Given the description of an element on the screen output the (x, y) to click on. 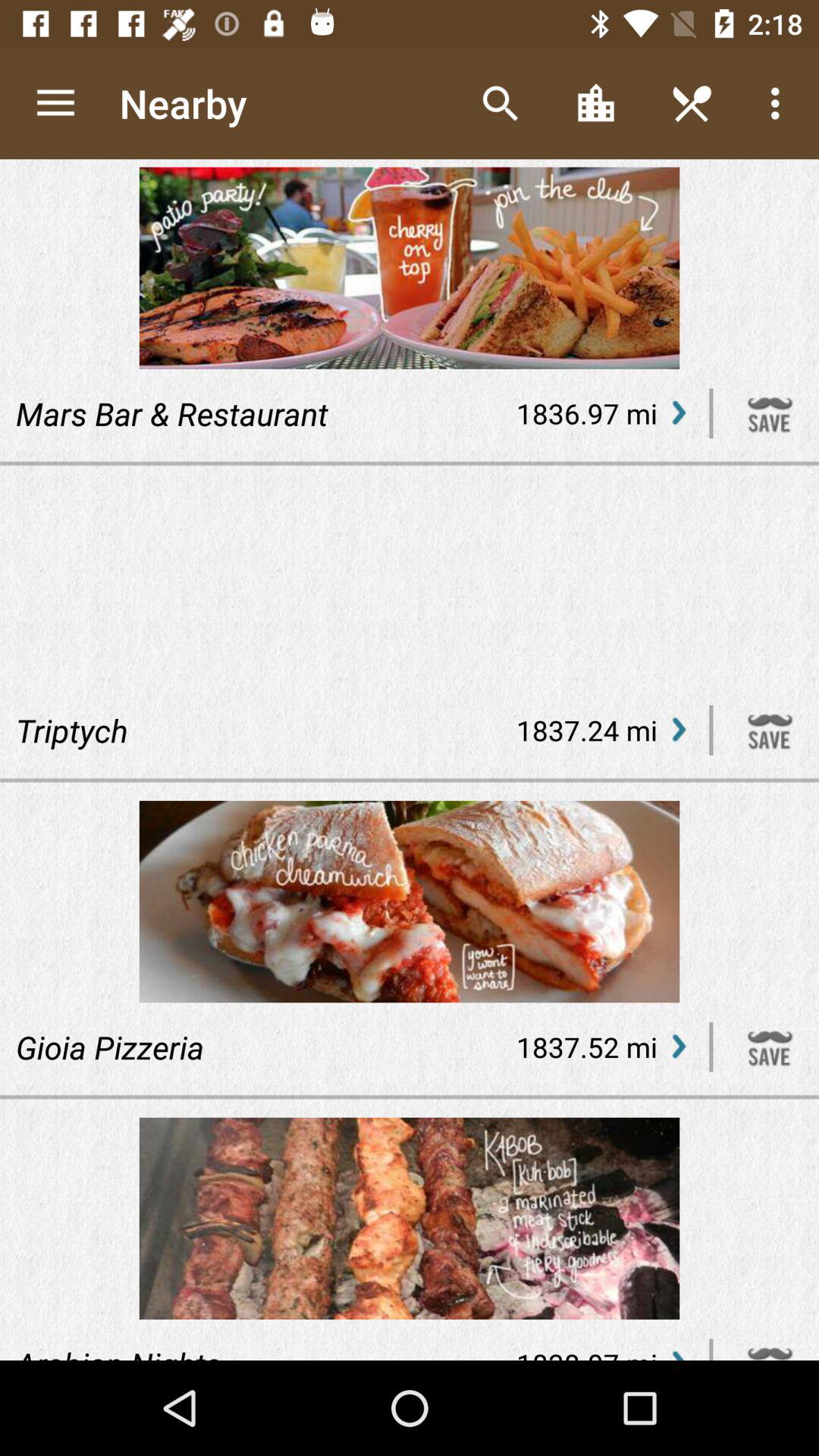
save (770, 1046)
